Given the description of an element on the screen output the (x, y) to click on. 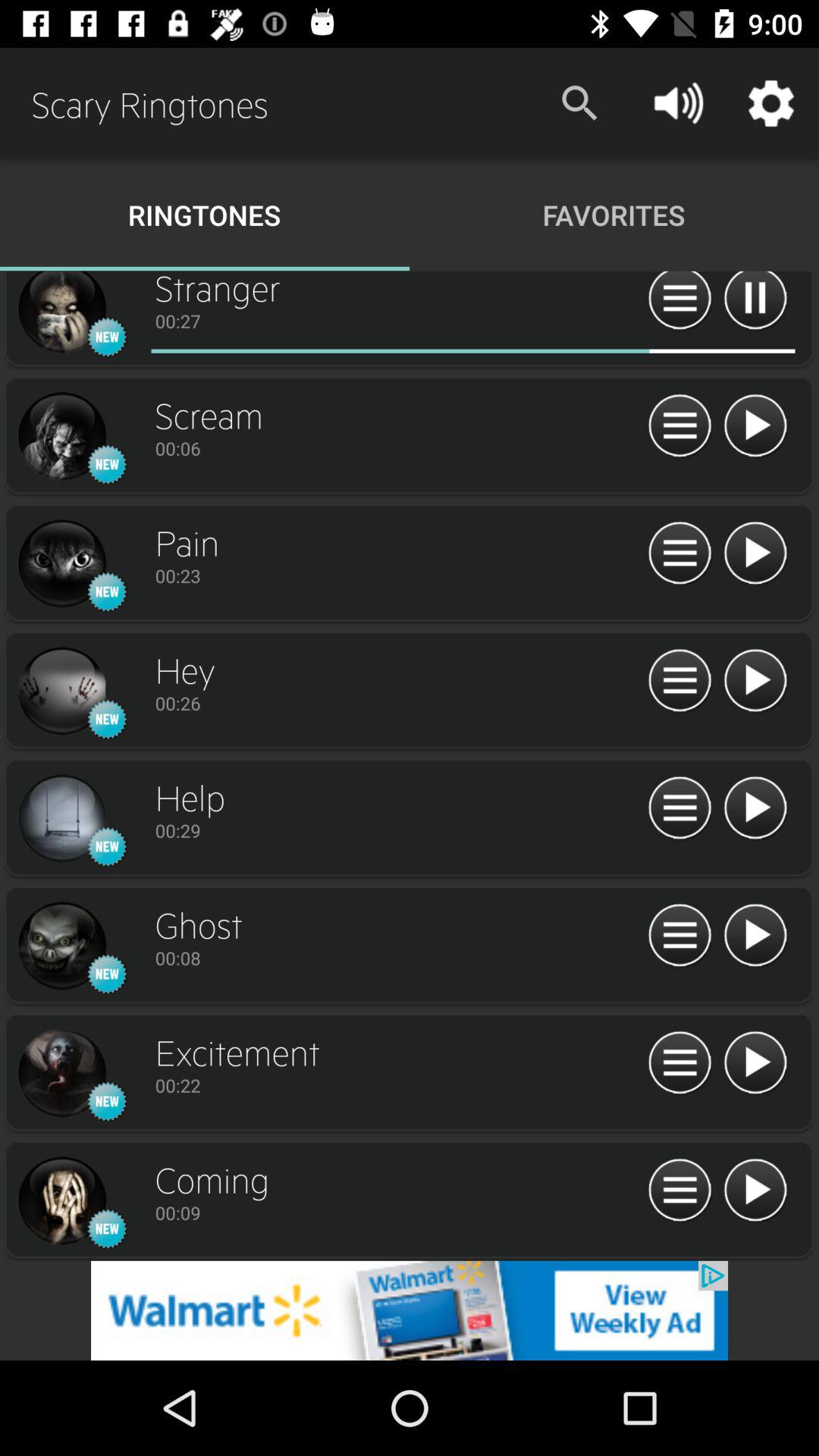
user photo (61, 563)
